Given the description of an element on the screen output the (x, y) to click on. 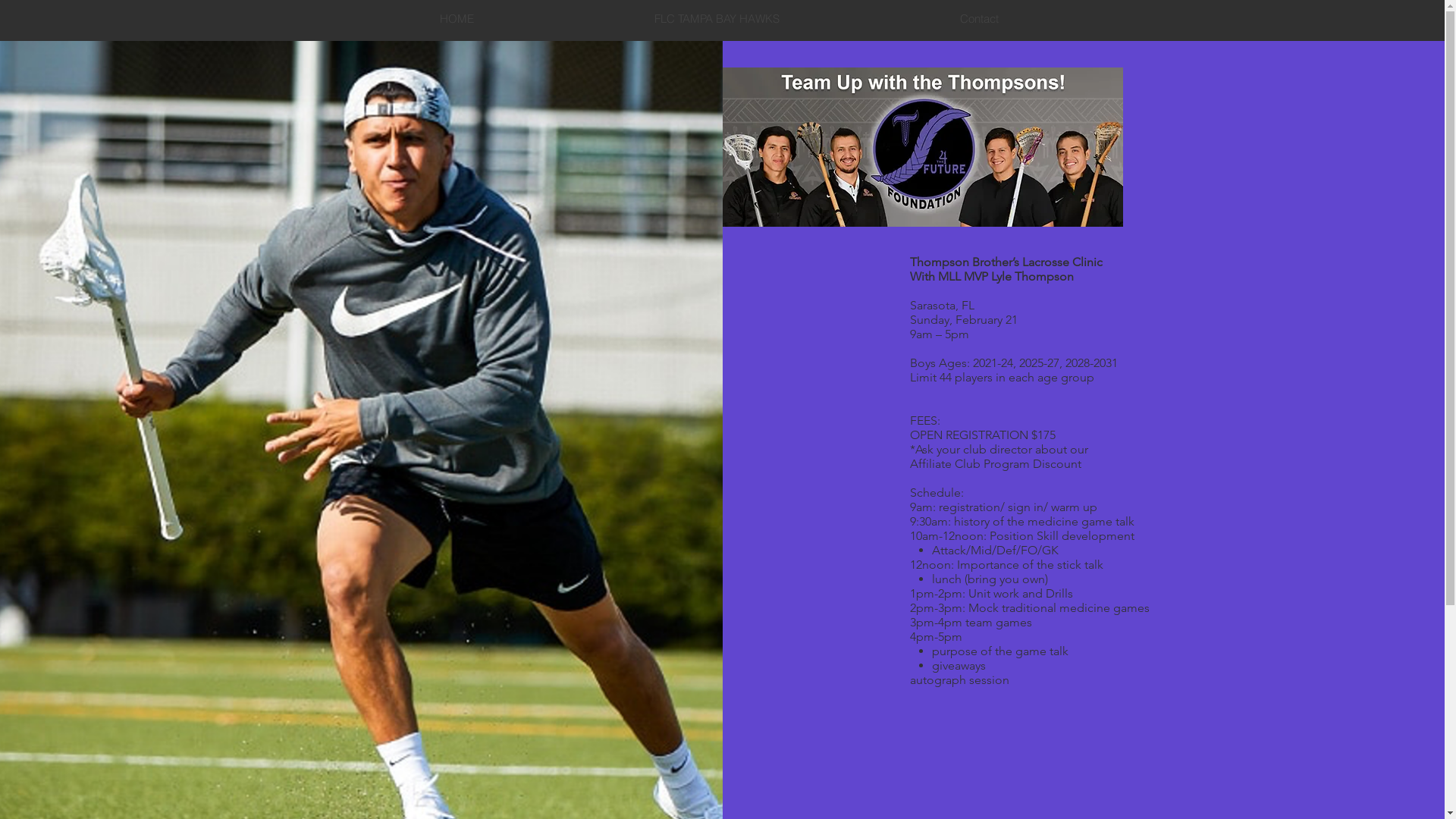
FLC TAMPA BAY HAWKS Element type: text (716, 18)
Contact Element type: text (978, 18)
HOME Element type: text (455, 18)
